Given the description of an element on the screen output the (x, y) to click on. 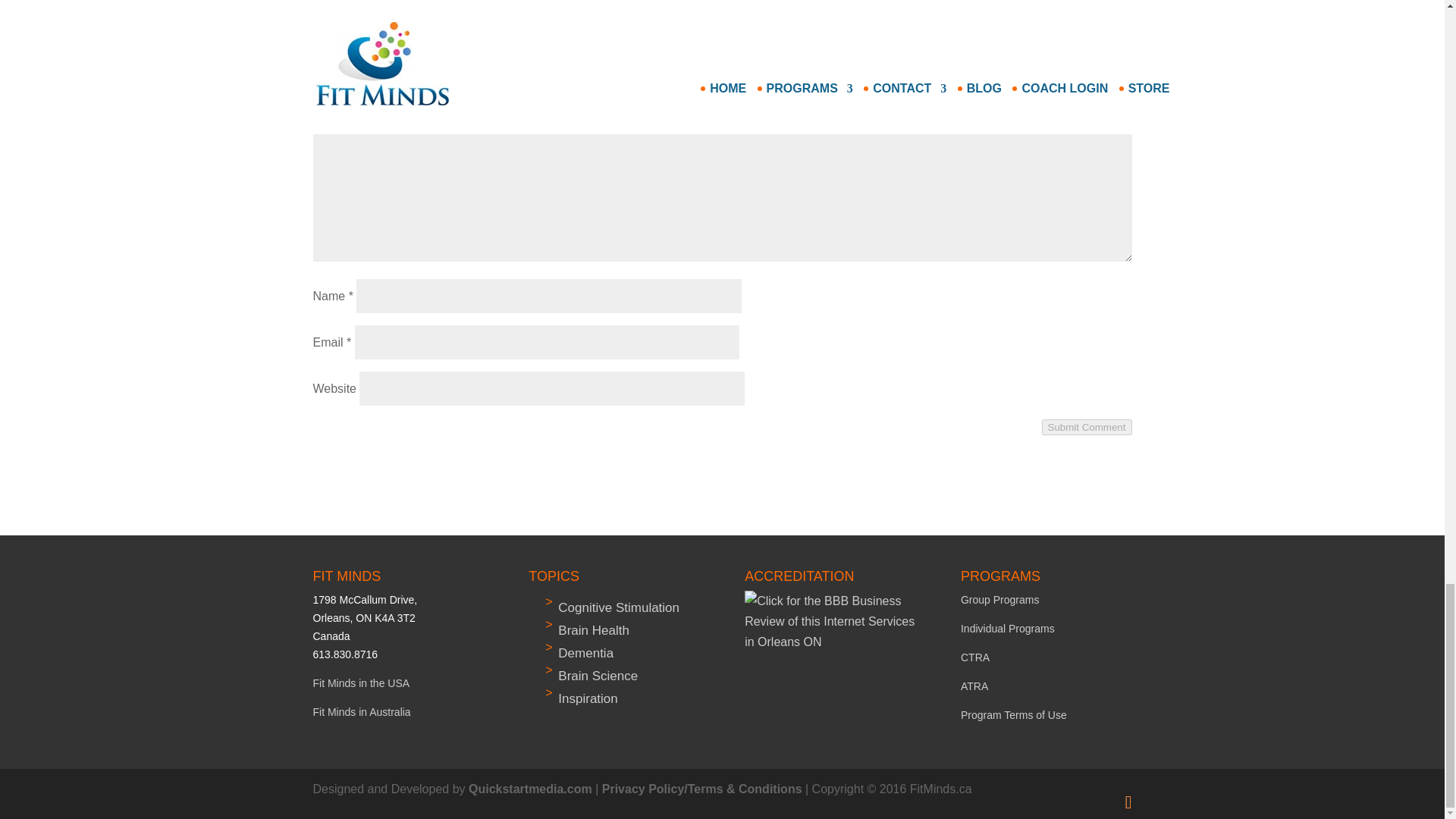
Individual Programs (1007, 628)
Inspiration (587, 698)
Brain Science (597, 676)
Brain Health (592, 630)
Dementia (584, 653)
Wordpress Website Design and Development Ottawa (530, 788)
Cognitive Stimulation (618, 607)
Submit Comment (1087, 426)
ATRA (974, 686)
Program Terms of Use (1013, 715)
CTRA (975, 657)
Quickstartmedia.com (530, 788)
Fit Minds in the USA (361, 683)
Fit Minds in Australia (361, 711)
